Given the description of an element on the screen output the (x, y) to click on. 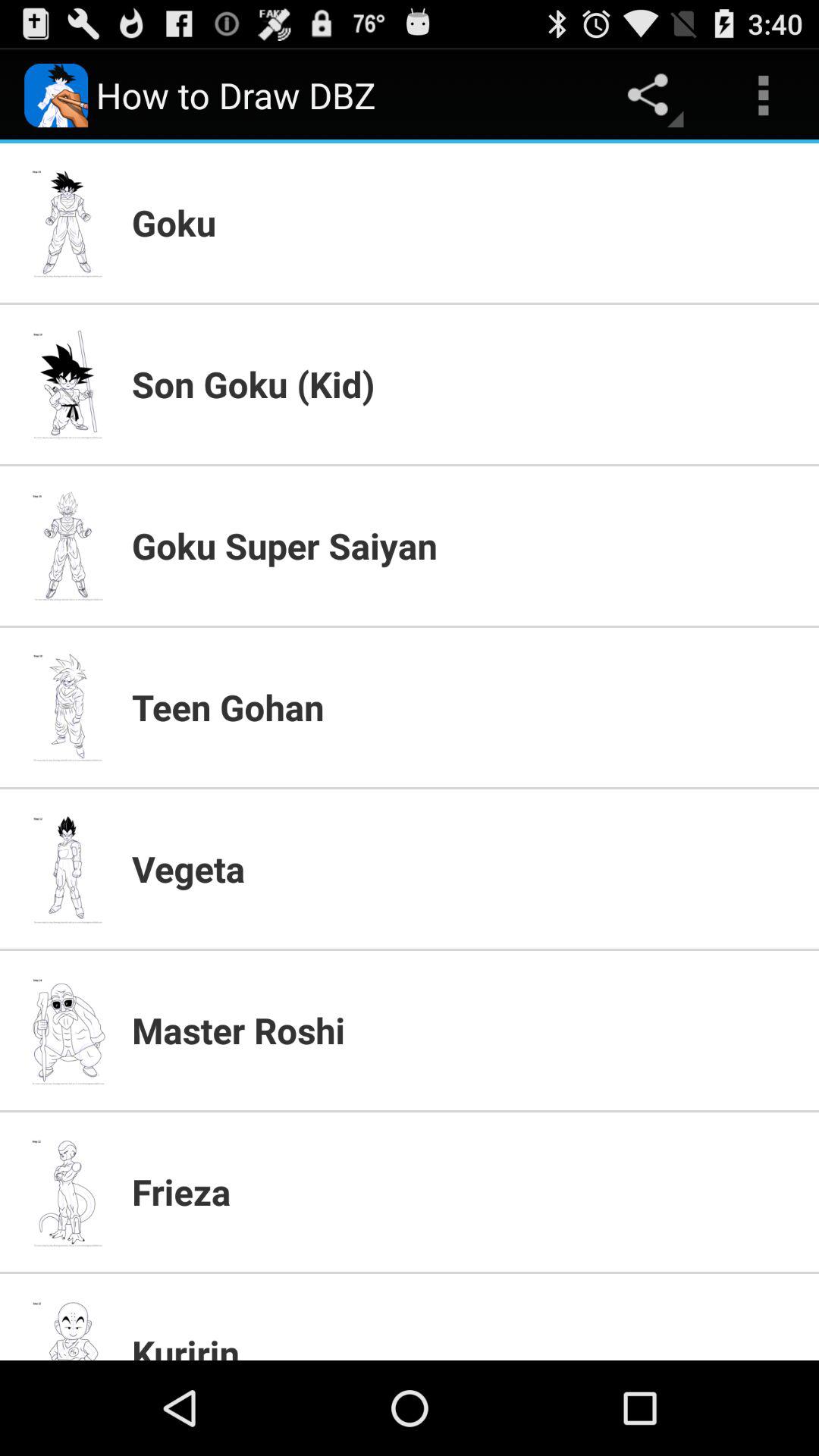
select the app below the son goku (kid) app (465, 545)
